Given the description of an element on the screen output the (x, y) to click on. 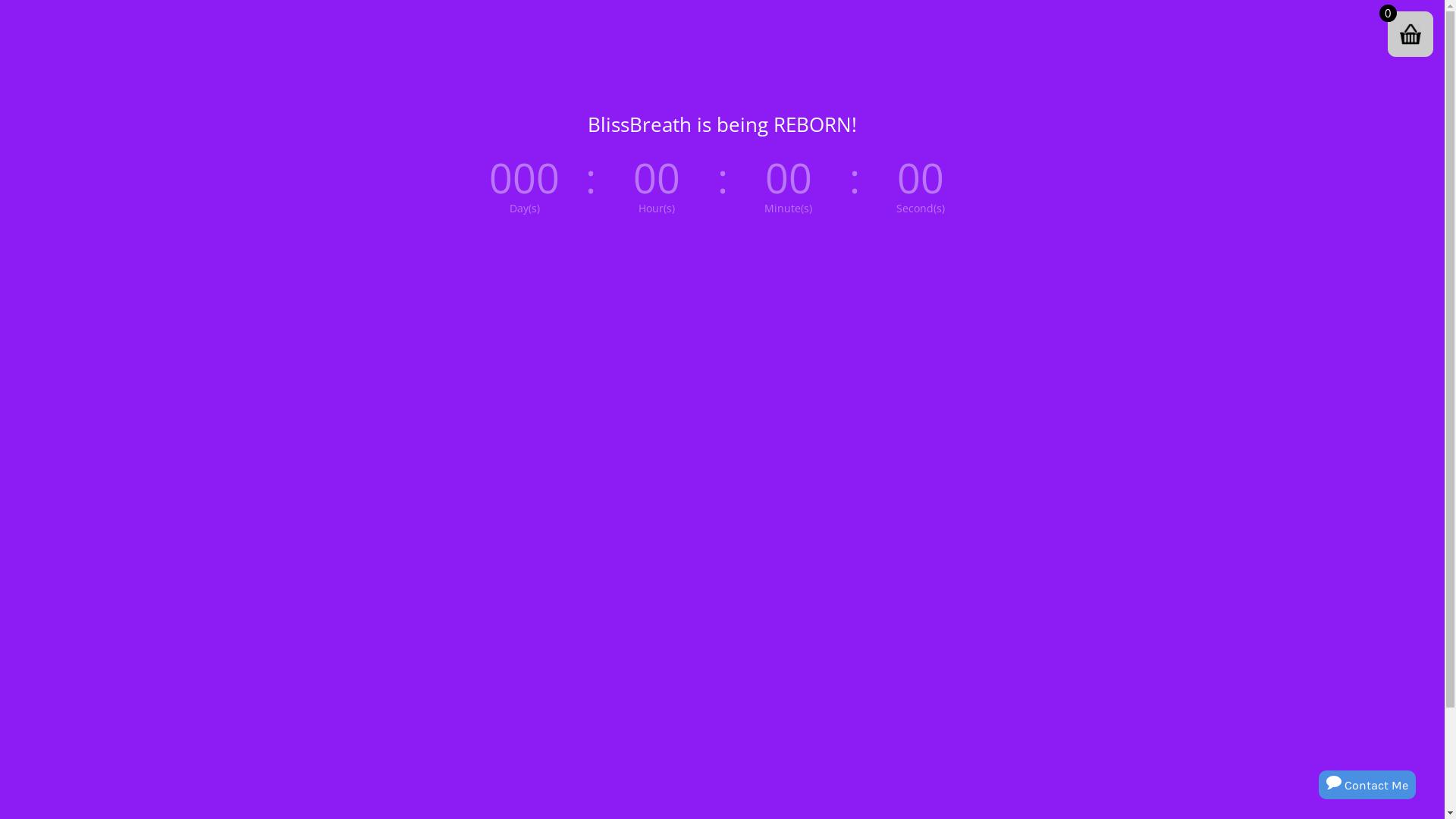
Contact Me Element type: text (1366, 784)
